Given the description of an element on the screen output the (x, y) to click on. 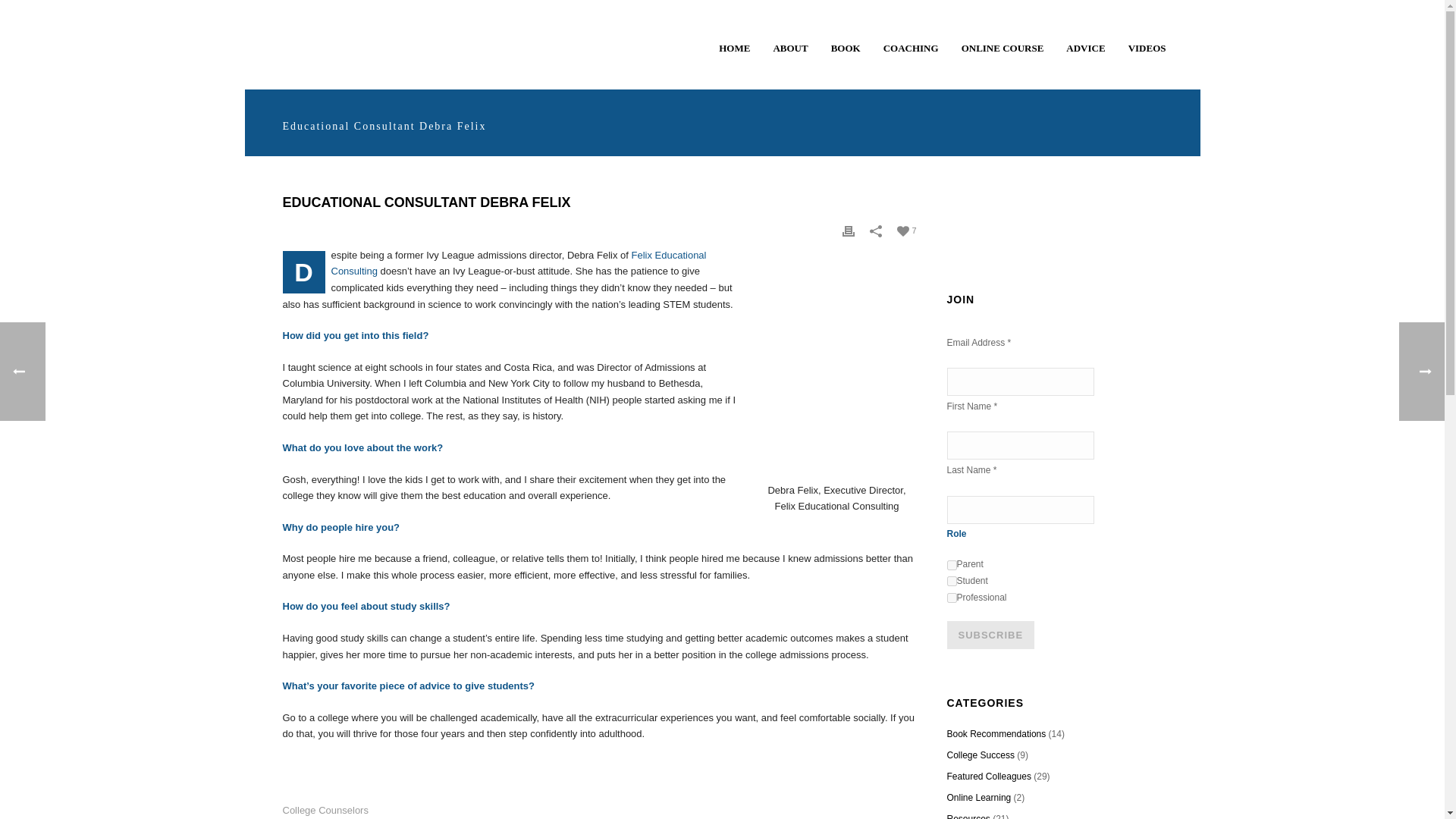
ONLINE COURSE (1002, 44)
4 (951, 597)
Felix Educational Consulting (518, 263)
Subscribe (989, 634)
7 (906, 229)
1 (951, 565)
College Counselors (325, 809)
2 (951, 581)
ONLINE COURSE (1002, 44)
